Given the description of an element on the screen output the (x, y) to click on. 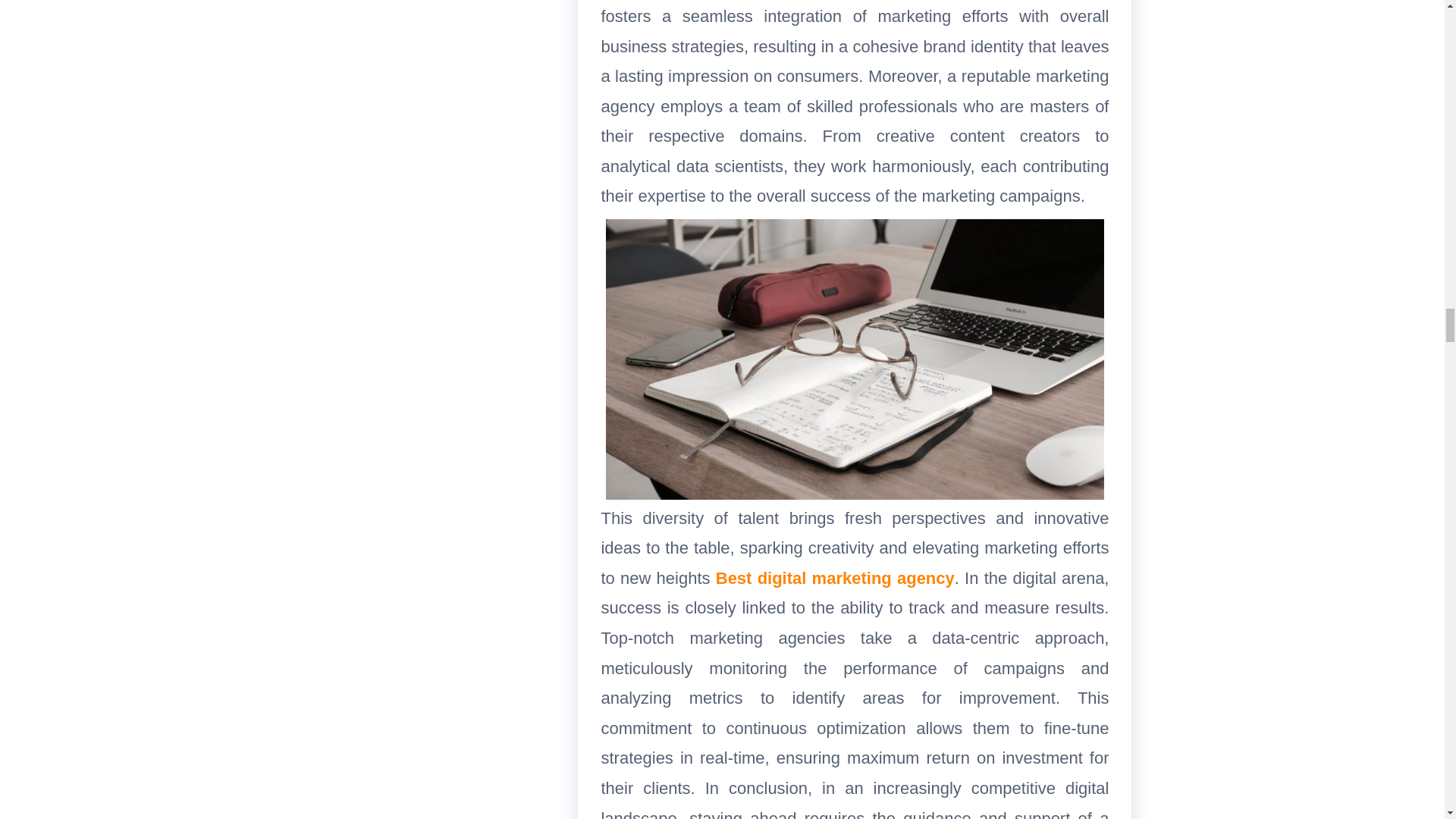
Best digital marketing agency (835, 578)
